Given the description of an element on the screen output the (x, y) to click on. 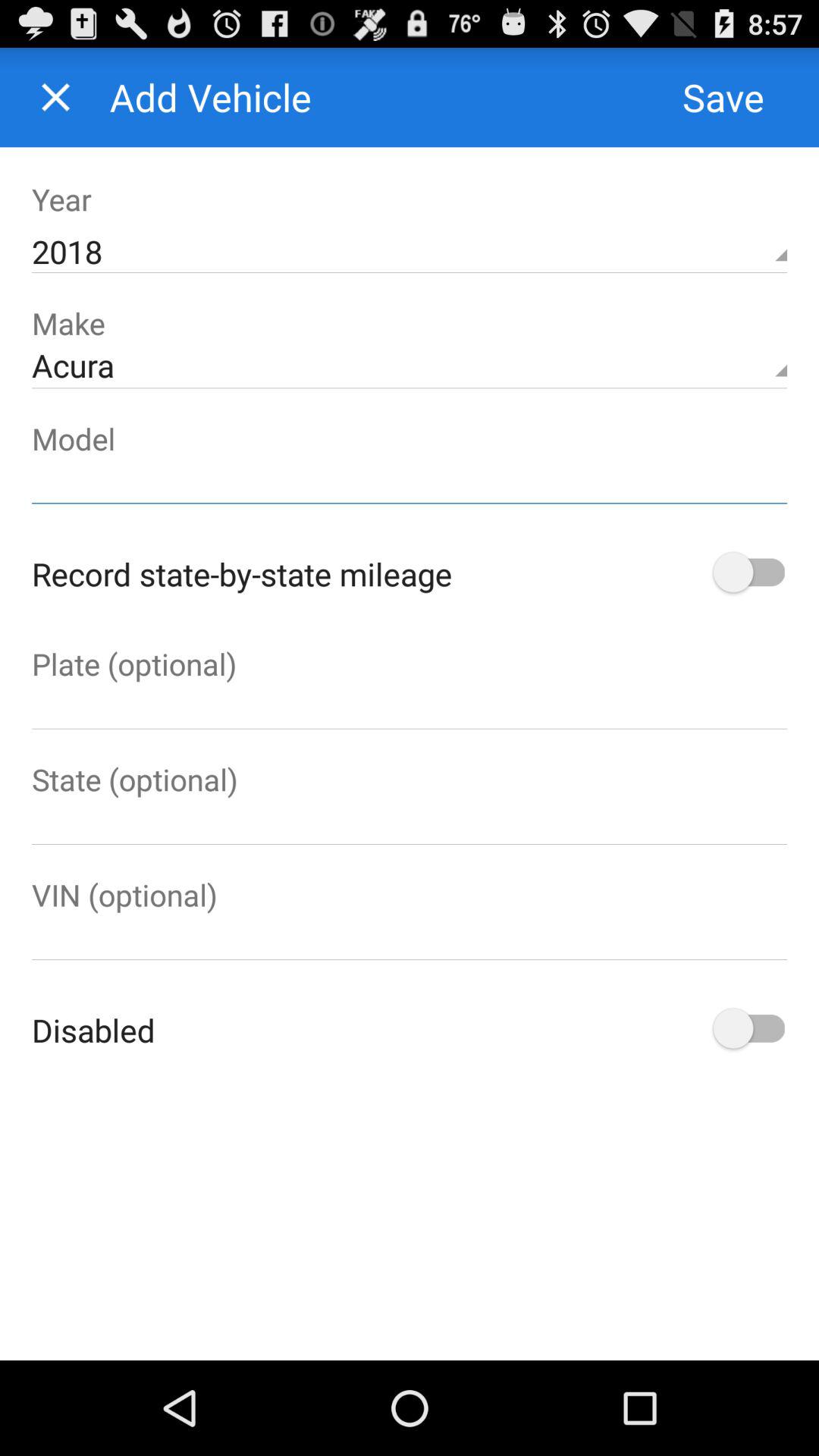
text box (409, 480)
